Given the description of an element on the screen output the (x, y) to click on. 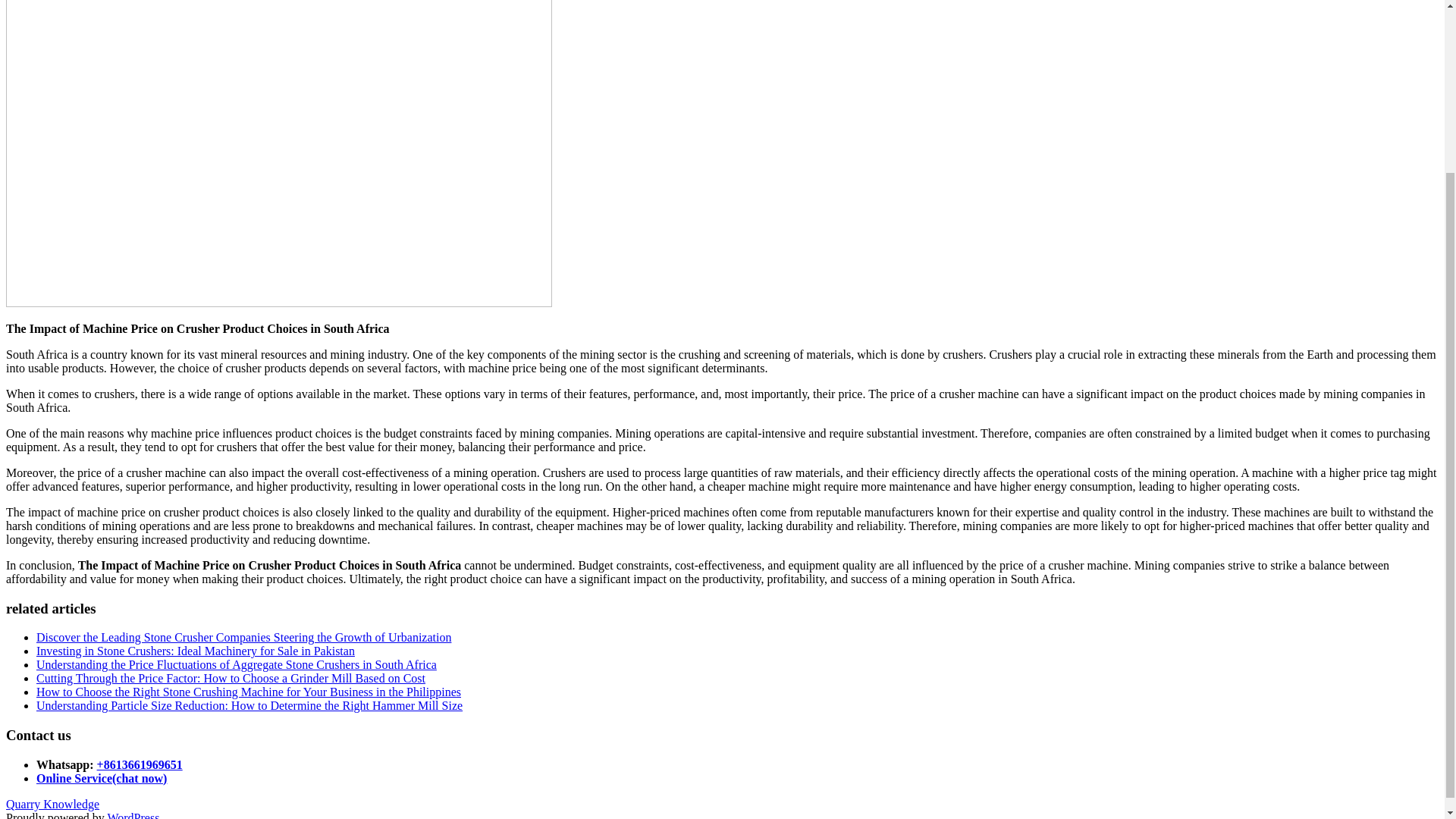
Quarry Knowledge (52, 803)
